Given the description of an element on the screen output the (x, y) to click on. 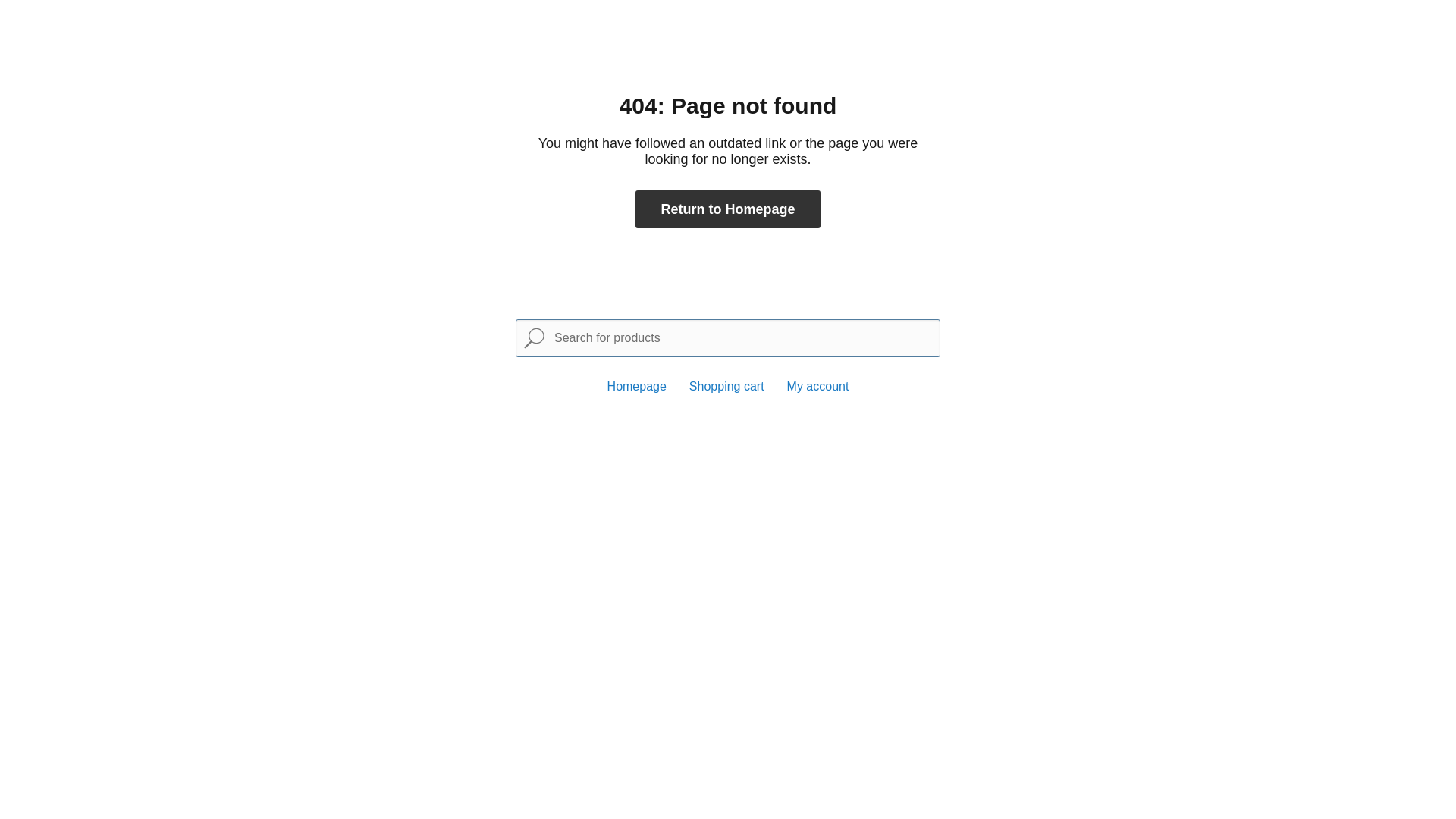
Return to Homepage Element type: text (727, 209)
My account Element type: text (818, 386)
Shopping cart Element type: text (726, 386)
Homepage Element type: text (636, 386)
